Given the description of an element on the screen output the (x, y) to click on. 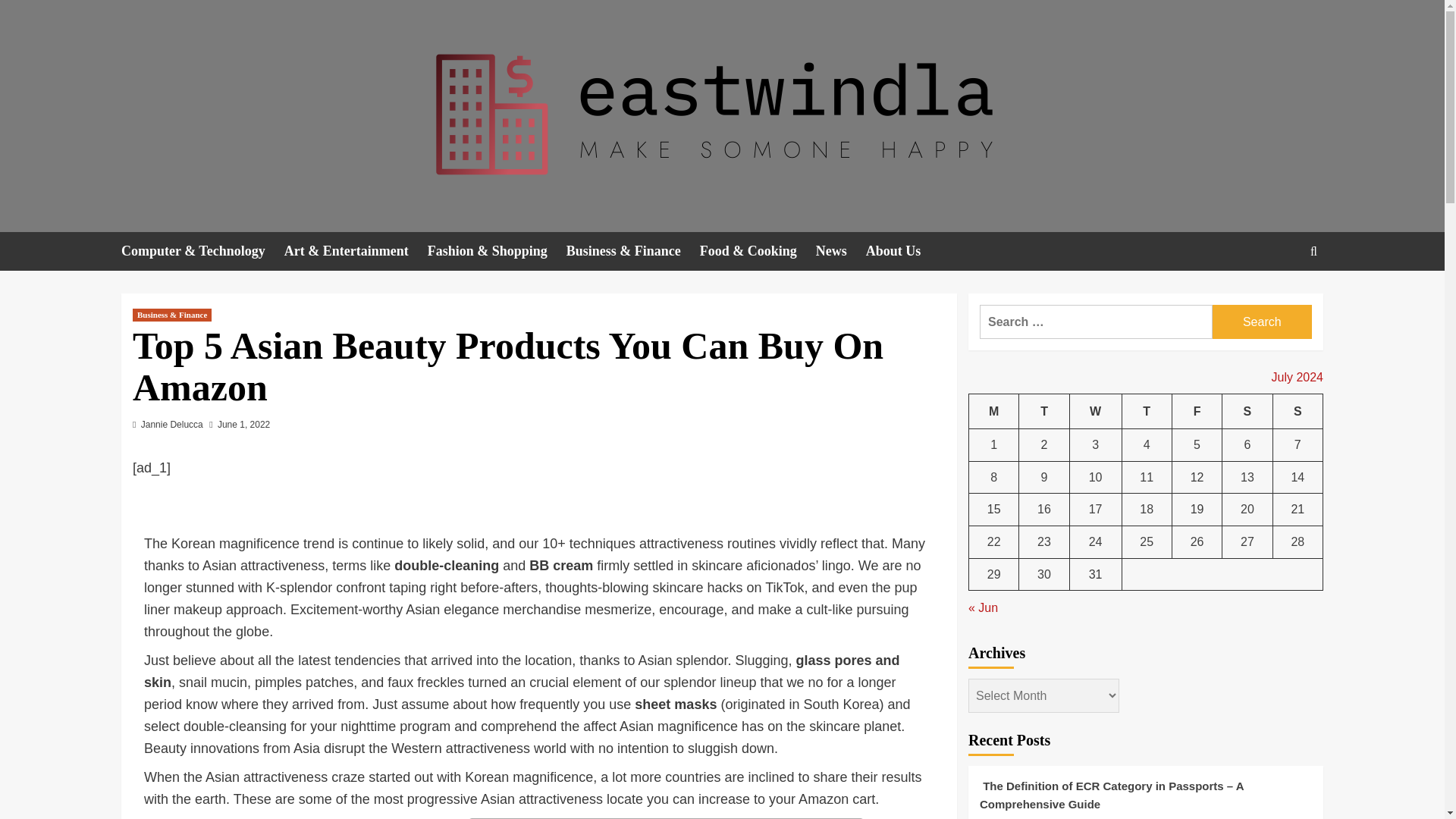
News (840, 251)
Thursday (1146, 411)
Friday (1196, 411)
Wednesday (1094, 411)
Saturday (1247, 411)
Search (1261, 321)
Search (1261, 321)
Search (1278, 297)
Jannie Delucca (172, 424)
Tuesday (1043, 411)
June 1, 2022 (242, 424)
About Us (903, 251)
Monday (994, 411)
